Given the description of an element on the screen output the (x, y) to click on. 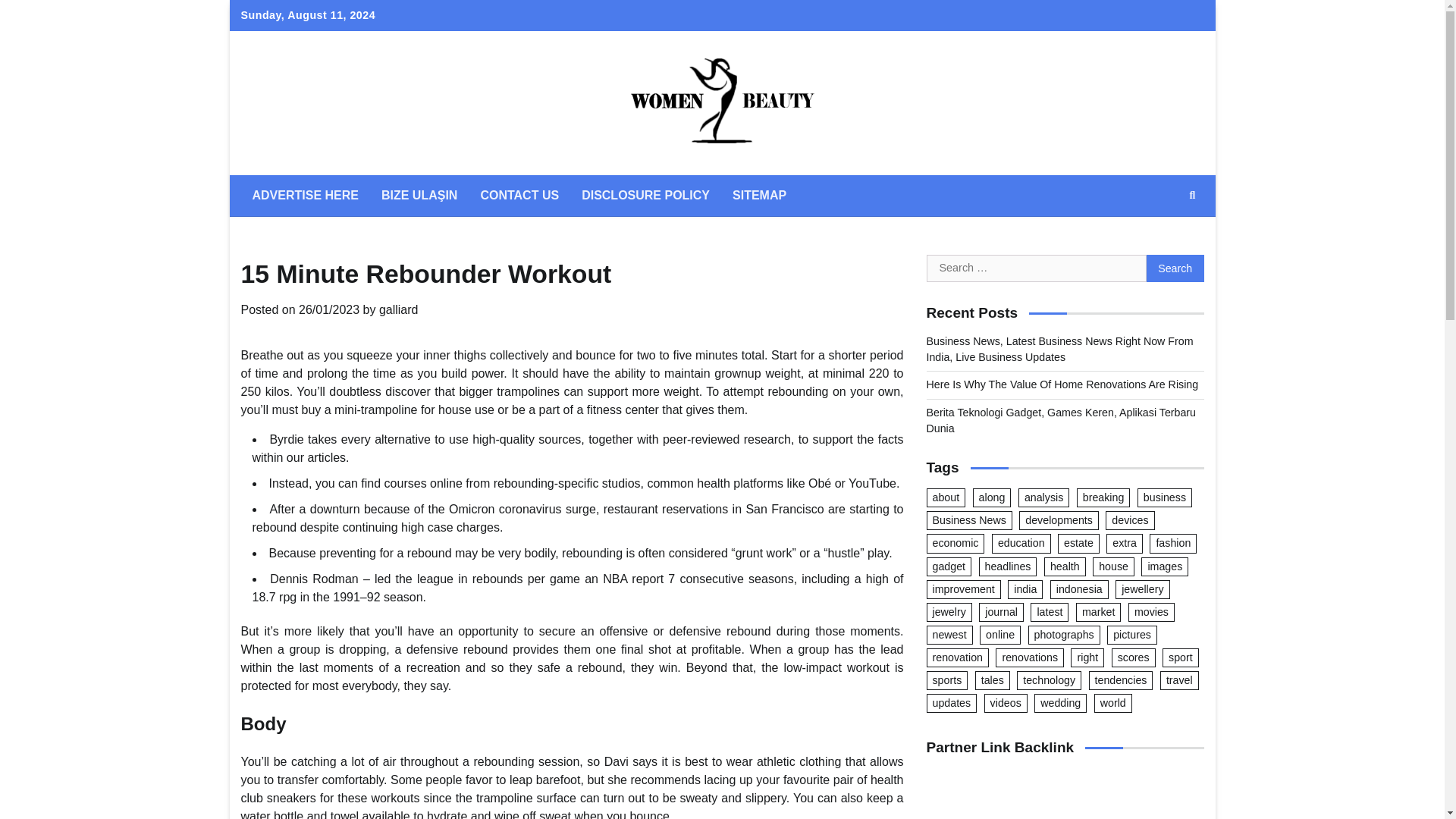
Berita Teknologi Gadget, Games Keren, Aplikasi Terbaru Dunia (1061, 420)
Search (1175, 267)
Search (1192, 195)
education (1021, 542)
galliard (398, 309)
Search (1164, 230)
extra (1124, 542)
CONTACT US (519, 195)
gadget (949, 566)
Search (1175, 267)
